Given the description of an element on the screen output the (x, y) to click on. 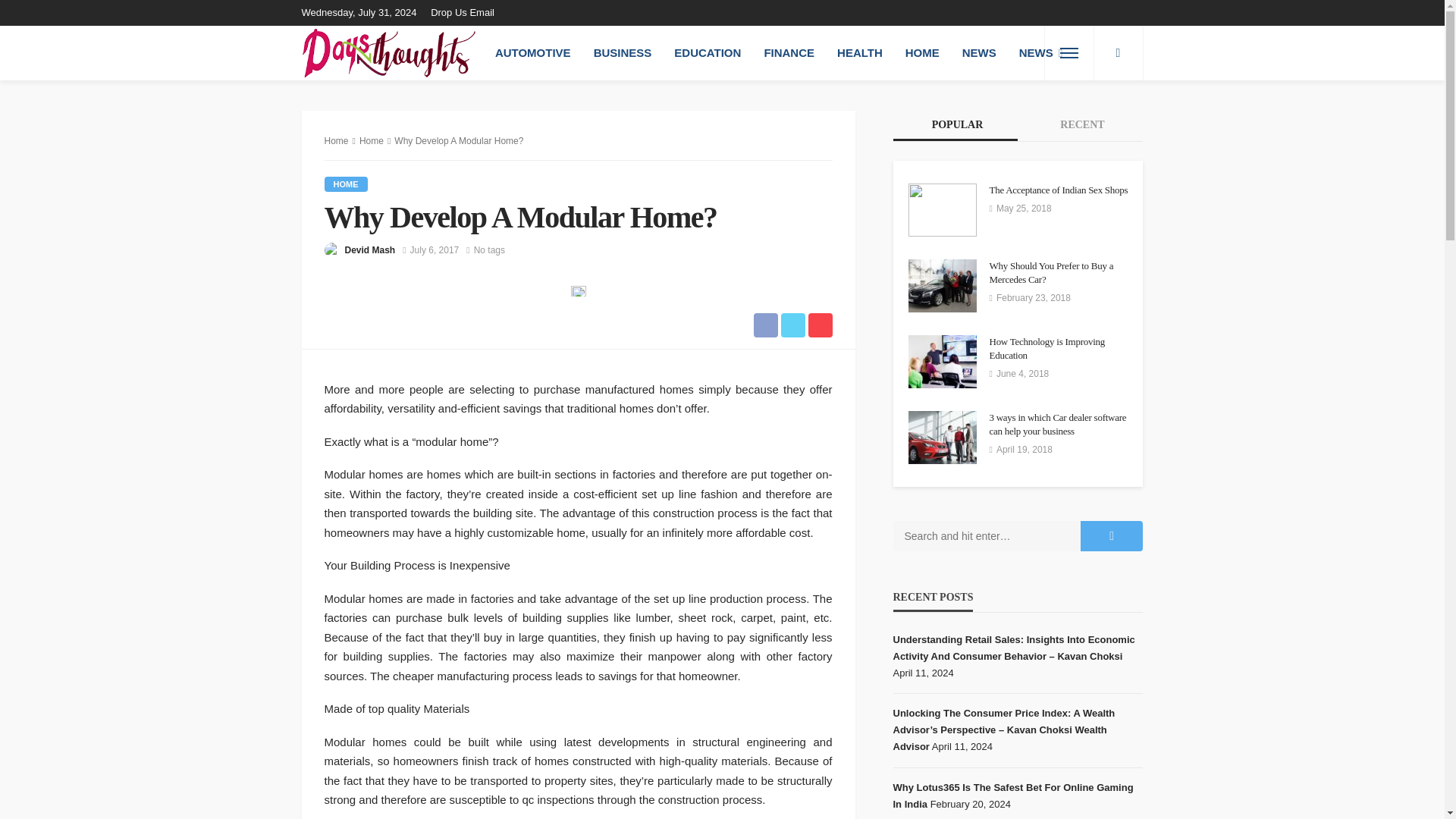
AUTOMOTIVE (532, 52)
EDUCATION (707, 52)
NEWS (1040, 52)
Days N Thoughts - a reliable source of information (388, 52)
Drop Us Email (466, 12)
Home (346, 183)
FINANCE (788, 52)
HEALTH (859, 52)
NEWS (978, 52)
HOME (921, 52)
BUSINESS (622, 52)
